Given the description of an element on the screen output the (x, y) to click on. 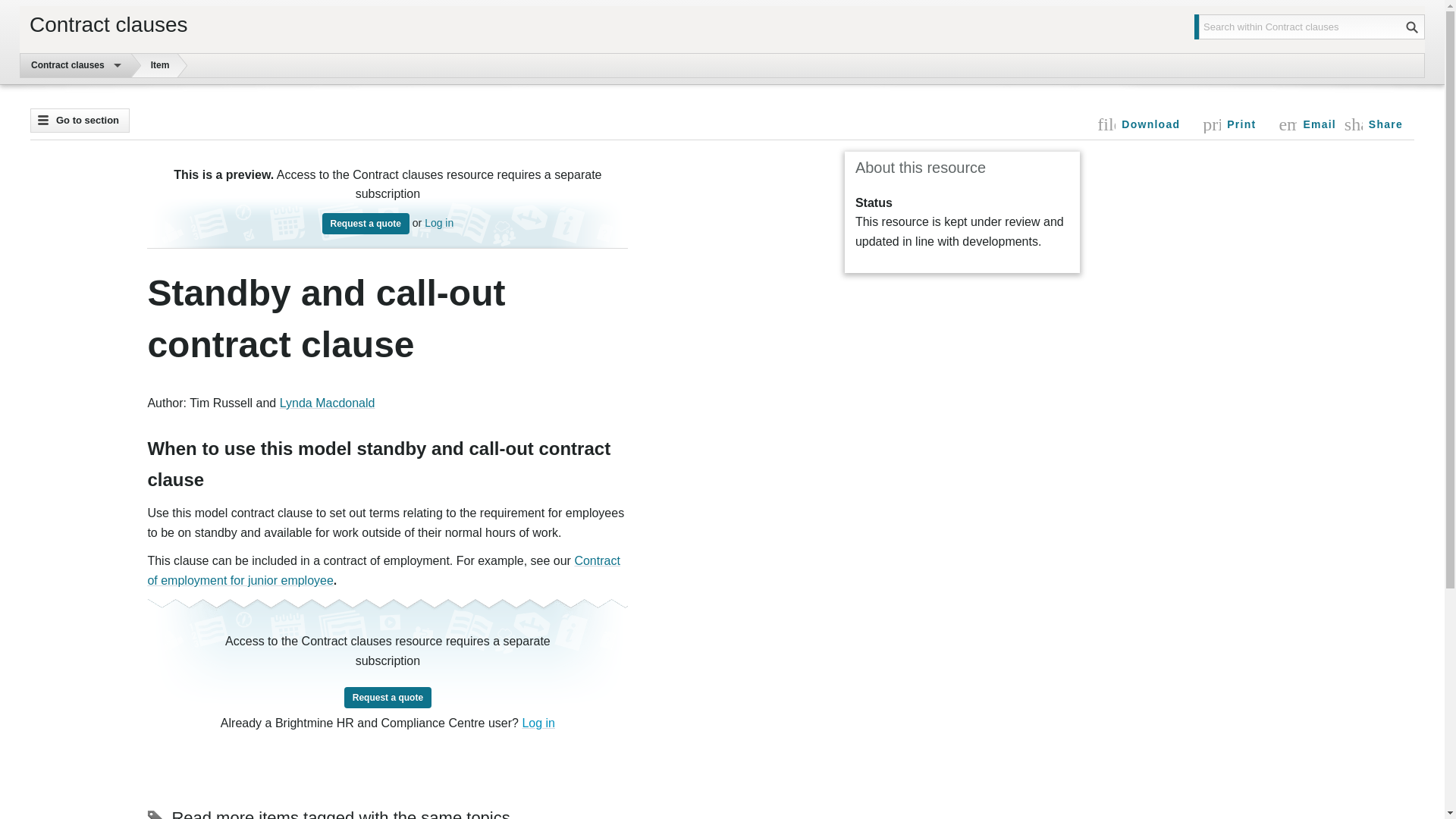
Contract of employment for junior employee (383, 570)
Lynda Macdonald (327, 402)
Request a quote (1307, 124)
Log in (365, 223)
Contract of employment for junior employee (537, 722)
Search (383, 570)
Log in (1411, 26)
Contract clauses (438, 223)
Request a quote (67, 65)
